Given the description of an element on the screen output the (x, y) to click on. 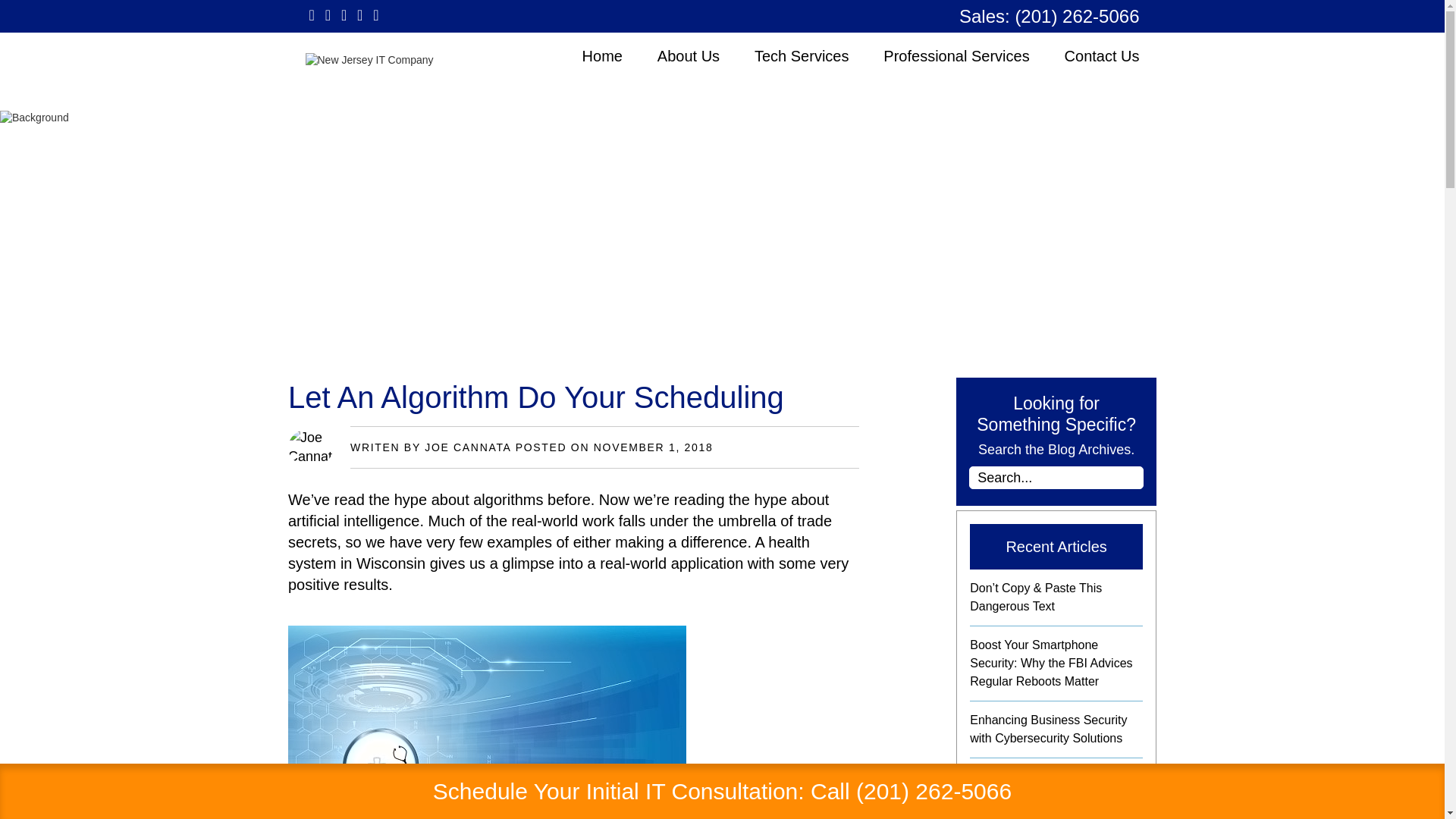
Contact Us (1102, 55)
Professional Services (956, 55)
Home (602, 55)
Tech Services (801, 55)
Search... (1055, 477)
About Us (688, 55)
Search... (1055, 477)
Enhancing Business Security with Cybersecurity Solutions (1047, 728)
